Given the description of an element on the screen output the (x, y) to click on. 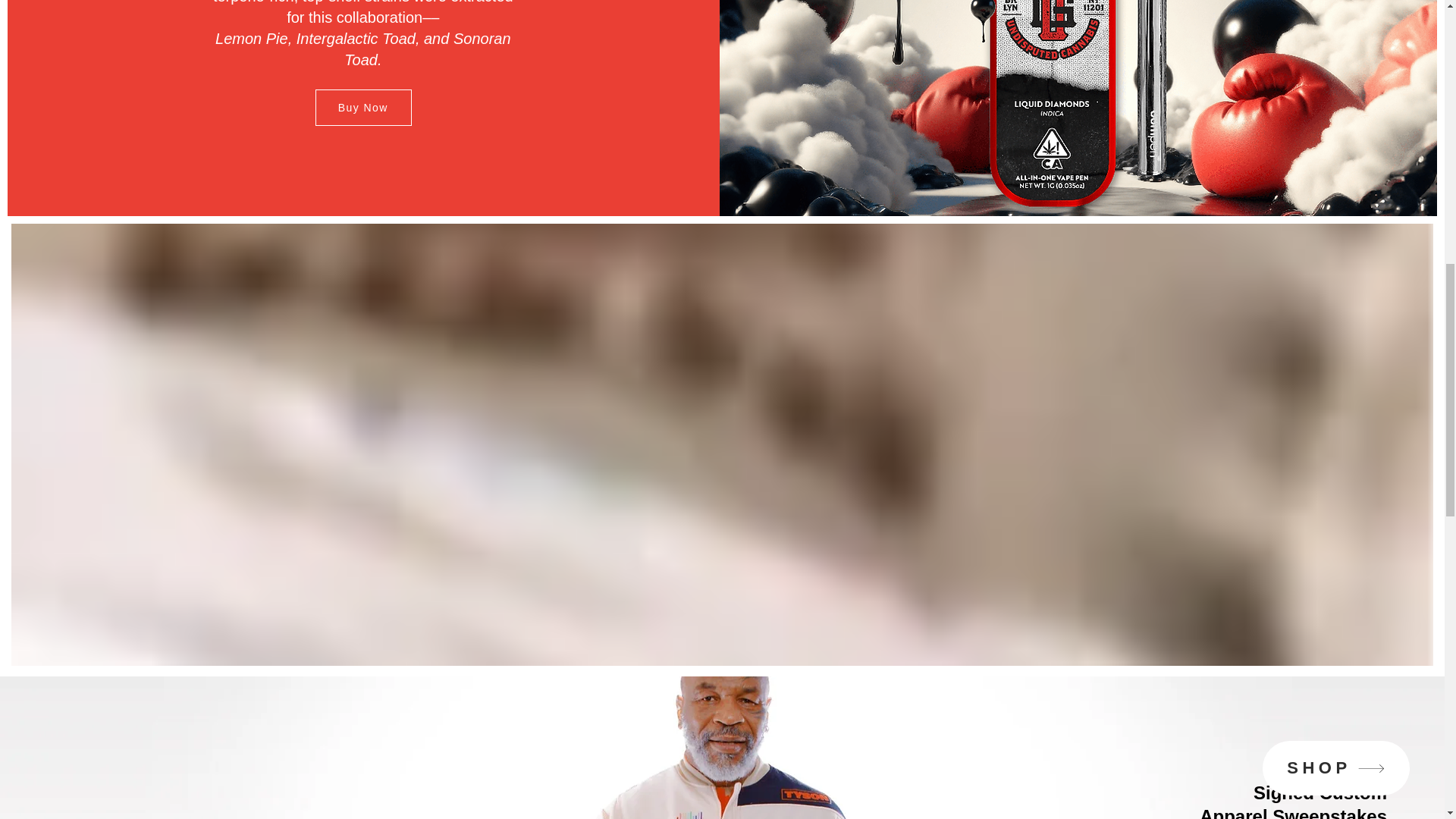
Buy Now (363, 107)
